Given the description of an element on the screen output the (x, y) to click on. 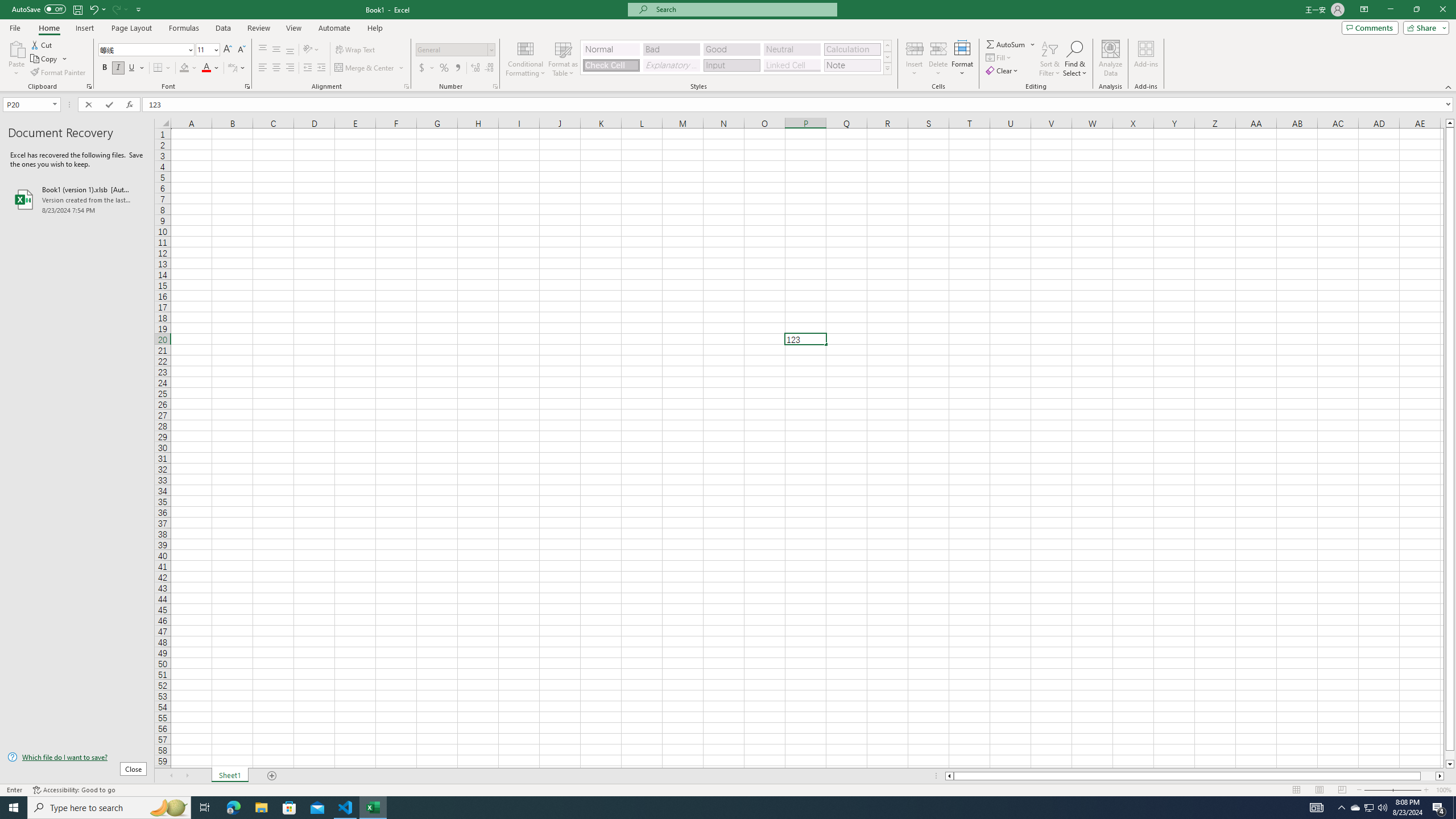
Number Format (451, 49)
Fill Color RGB(255, 255, 0) (183, 67)
Format (962, 58)
AutomationID: CellStylesGallery (736, 57)
Note (852, 65)
Font Color (210, 67)
Bottom Align (290, 49)
Formulas (184, 28)
Comments (1369, 27)
Normal (611, 49)
Zoom (1392, 790)
Font Size (207, 49)
Top Align (262, 49)
Font (147, 49)
Input (731, 65)
